Given the description of an element on the screen output the (x, y) to click on. 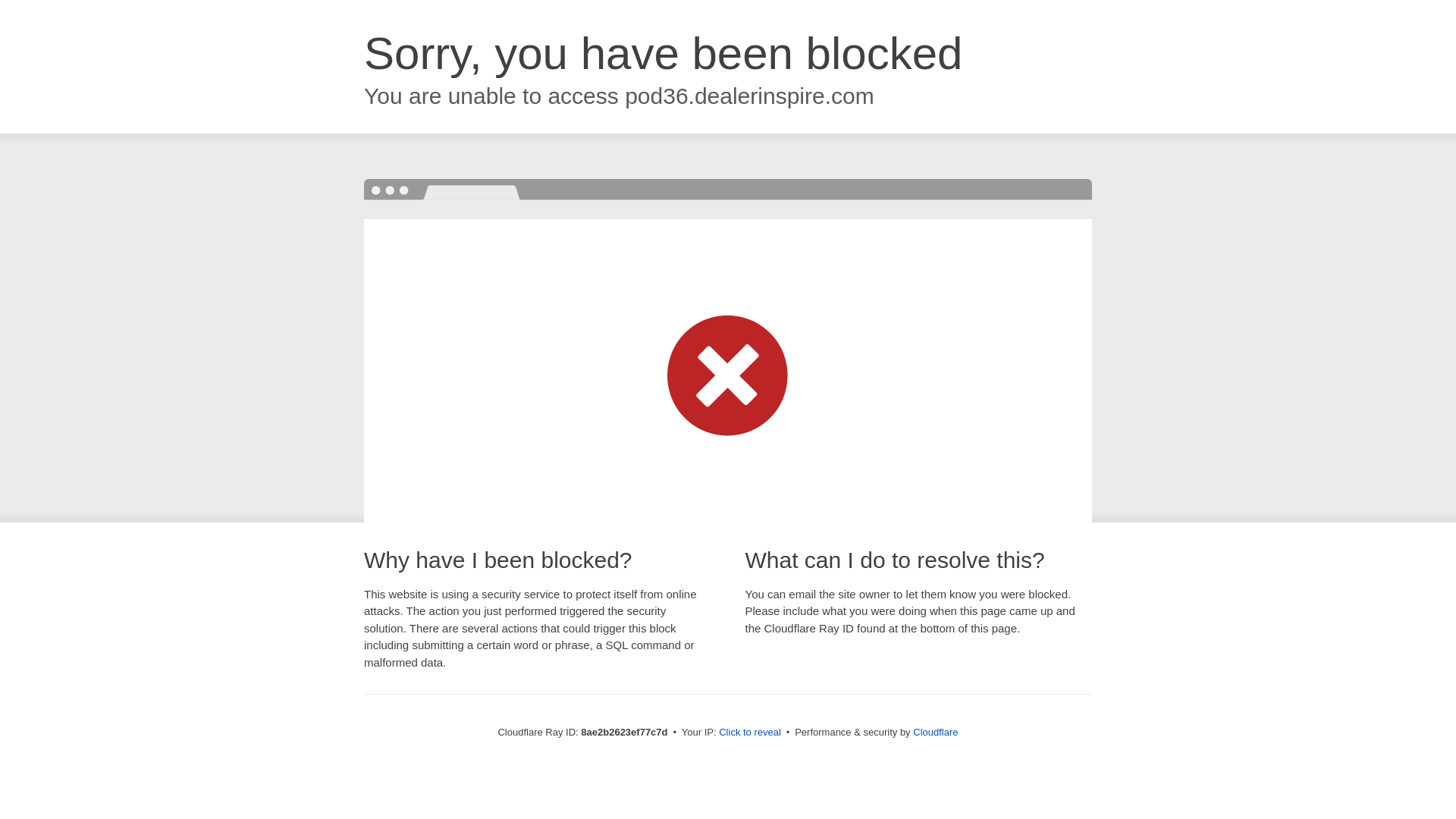
Cloudflare (935, 731)
Click to reveal (749, 732)
